Given the description of an element on the screen output the (x, y) to click on. 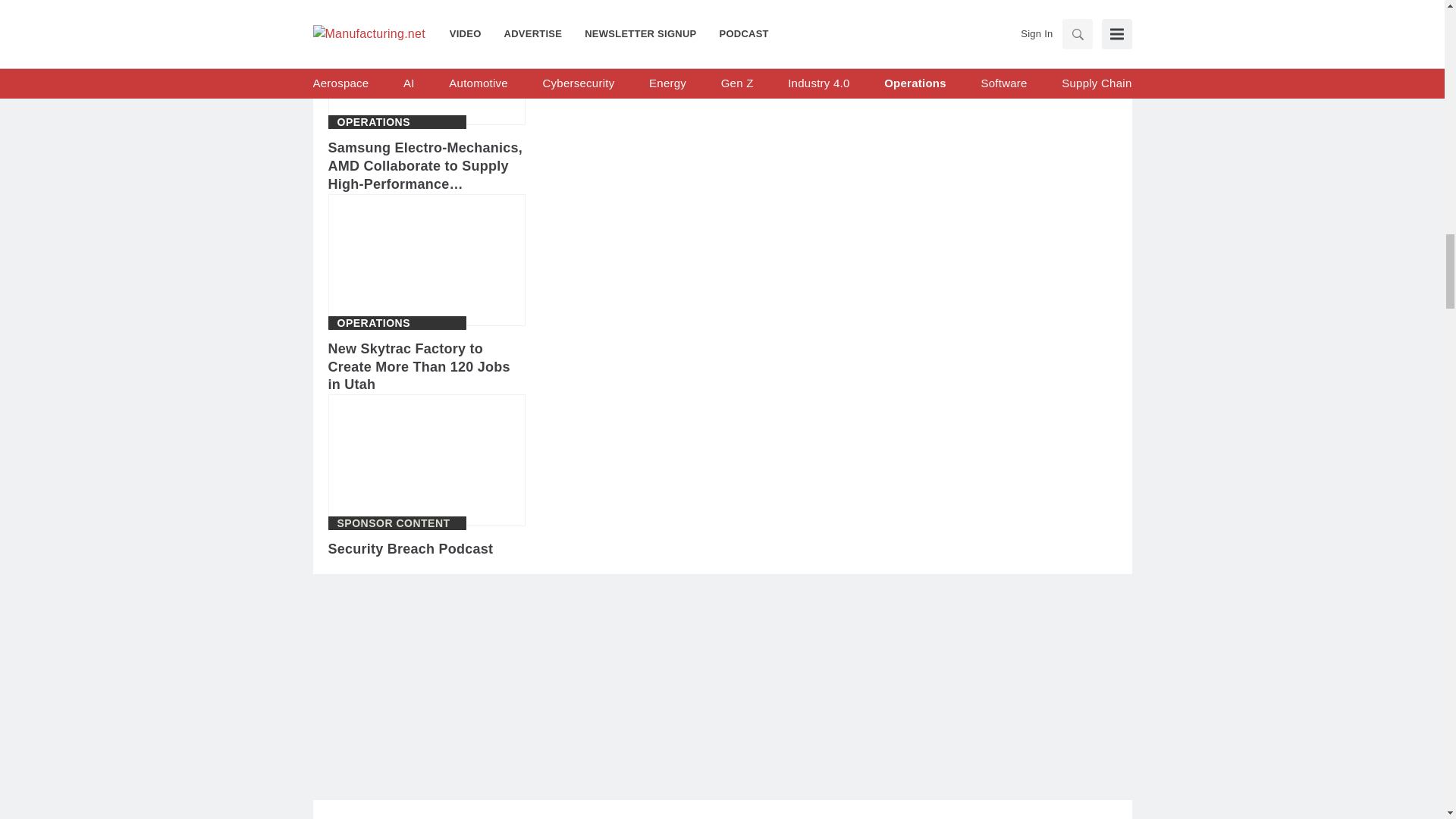
Operations (373, 122)
Sponsor Content (392, 522)
Operations (373, 322)
